Given the description of an element on the screen output the (x, y) to click on. 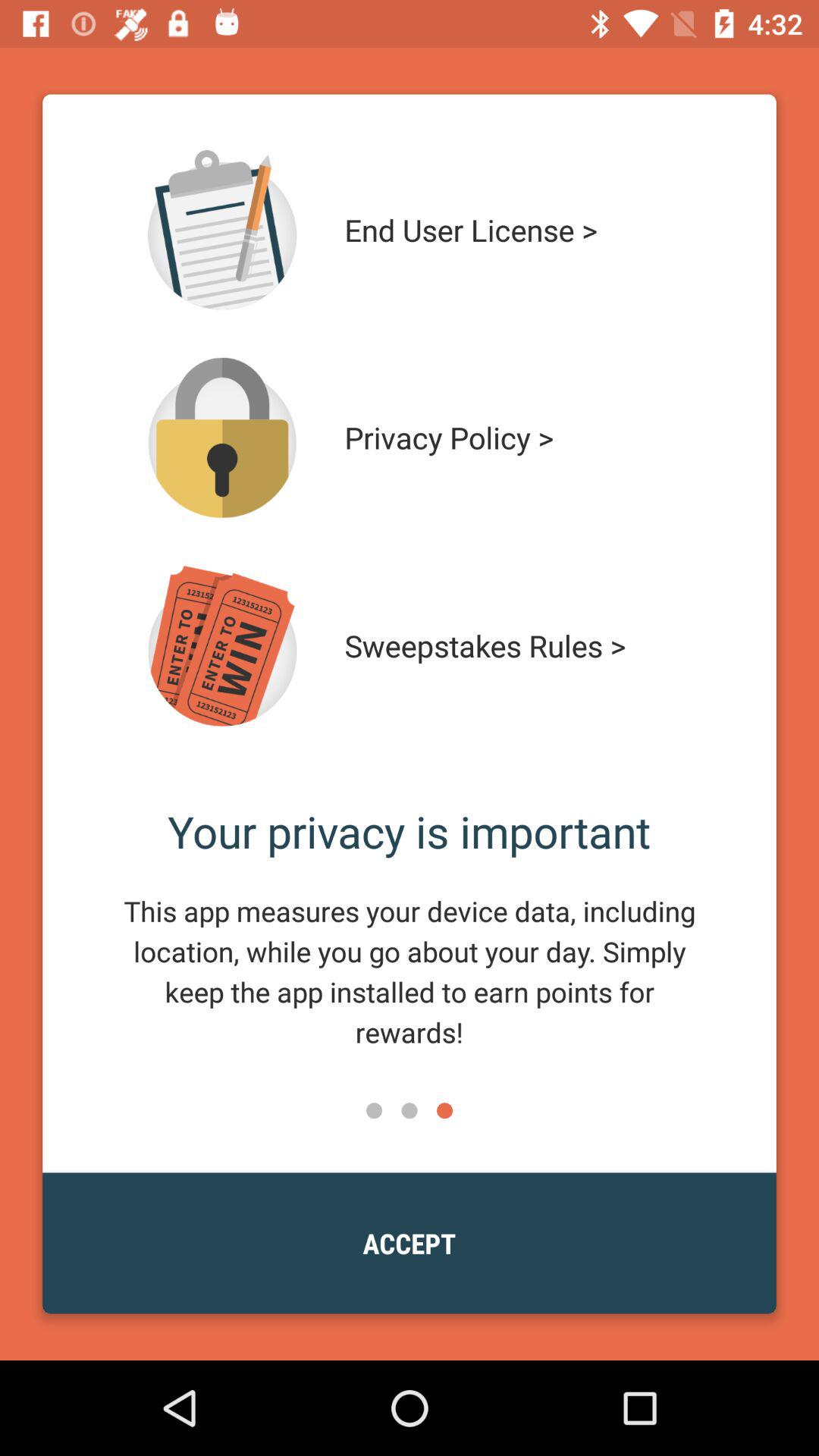
scroll to end user license > item (514, 229)
